Given the description of an element on the screen output the (x, y) to click on. 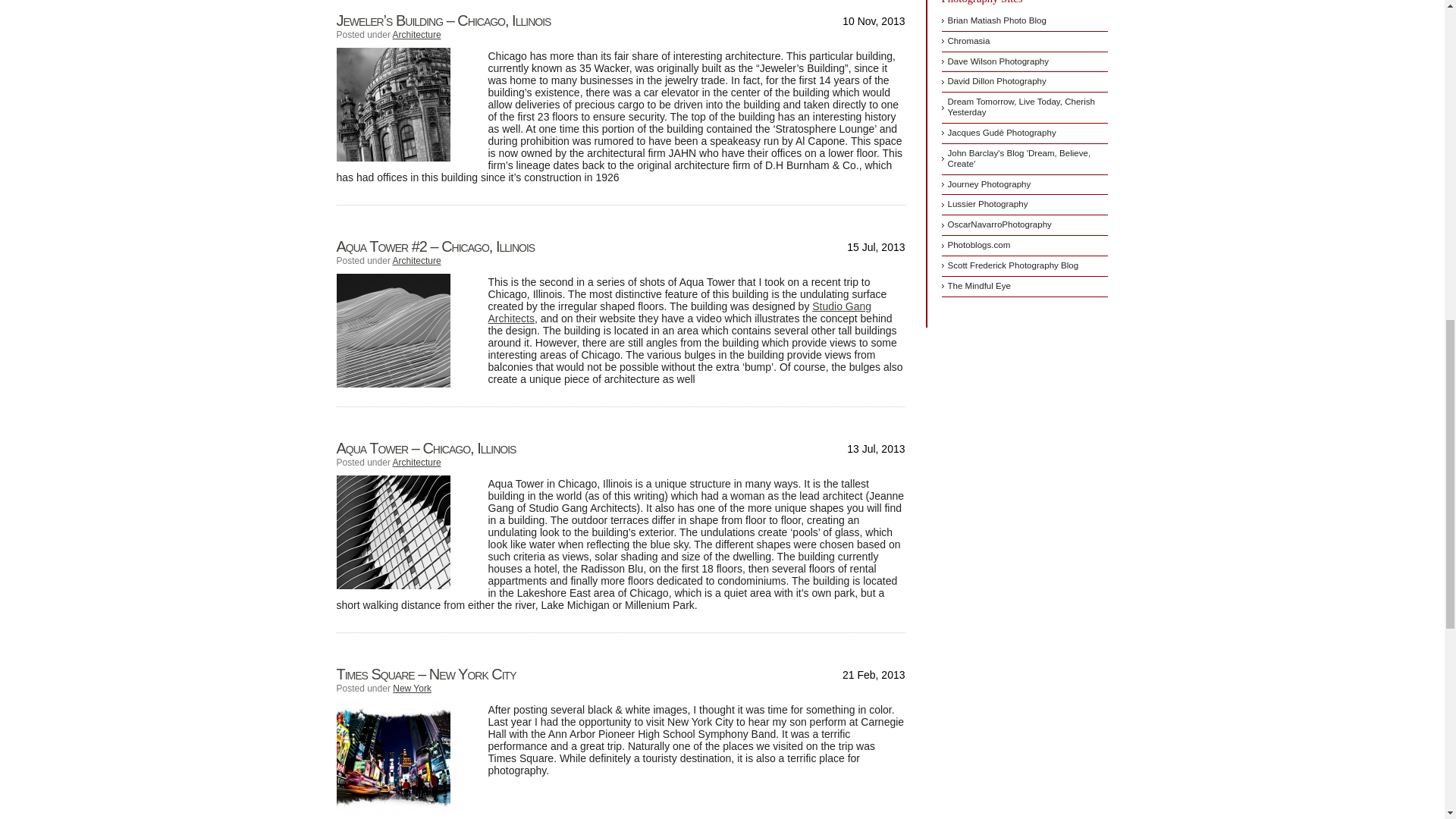
OscarNavarroPhotography (1025, 225)
A photo blog by Bob Towery (1025, 107)
Great collection of Photography sites (1025, 245)
Studio Gang Architects (679, 312)
Architecture (417, 260)
Scott Frederick Photography Blog (1025, 266)
Architecture (417, 462)
New York (411, 688)
Architecture (417, 34)
Great site for photographic education and inspiration (1025, 286)
